Given the description of an element on the screen output the (x, y) to click on. 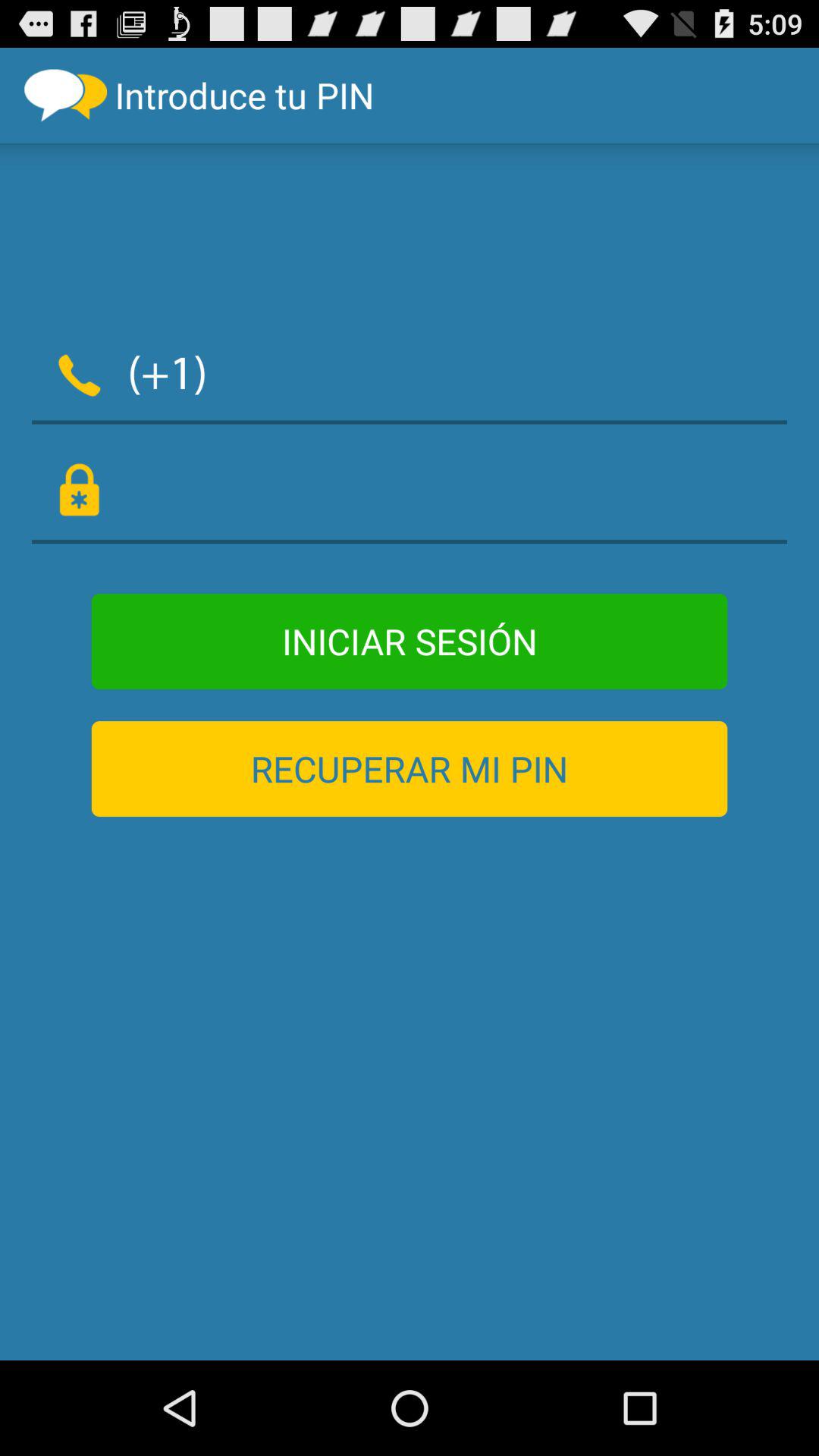
enter phone number (507, 371)
